Given the description of an element on the screen output the (x, y) to click on. 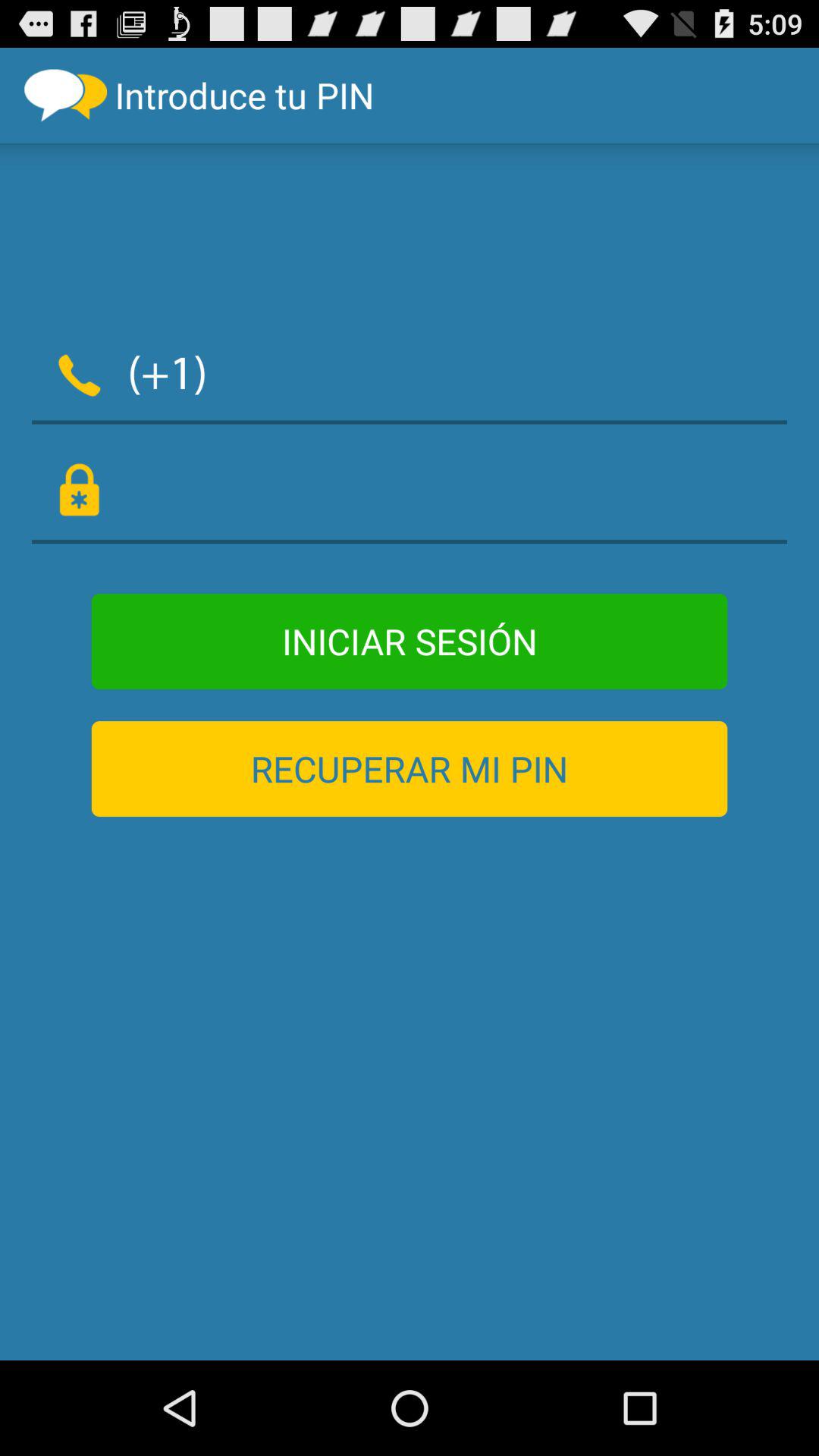
enter phone number (507, 371)
